Given the description of an element on the screen output the (x, y) to click on. 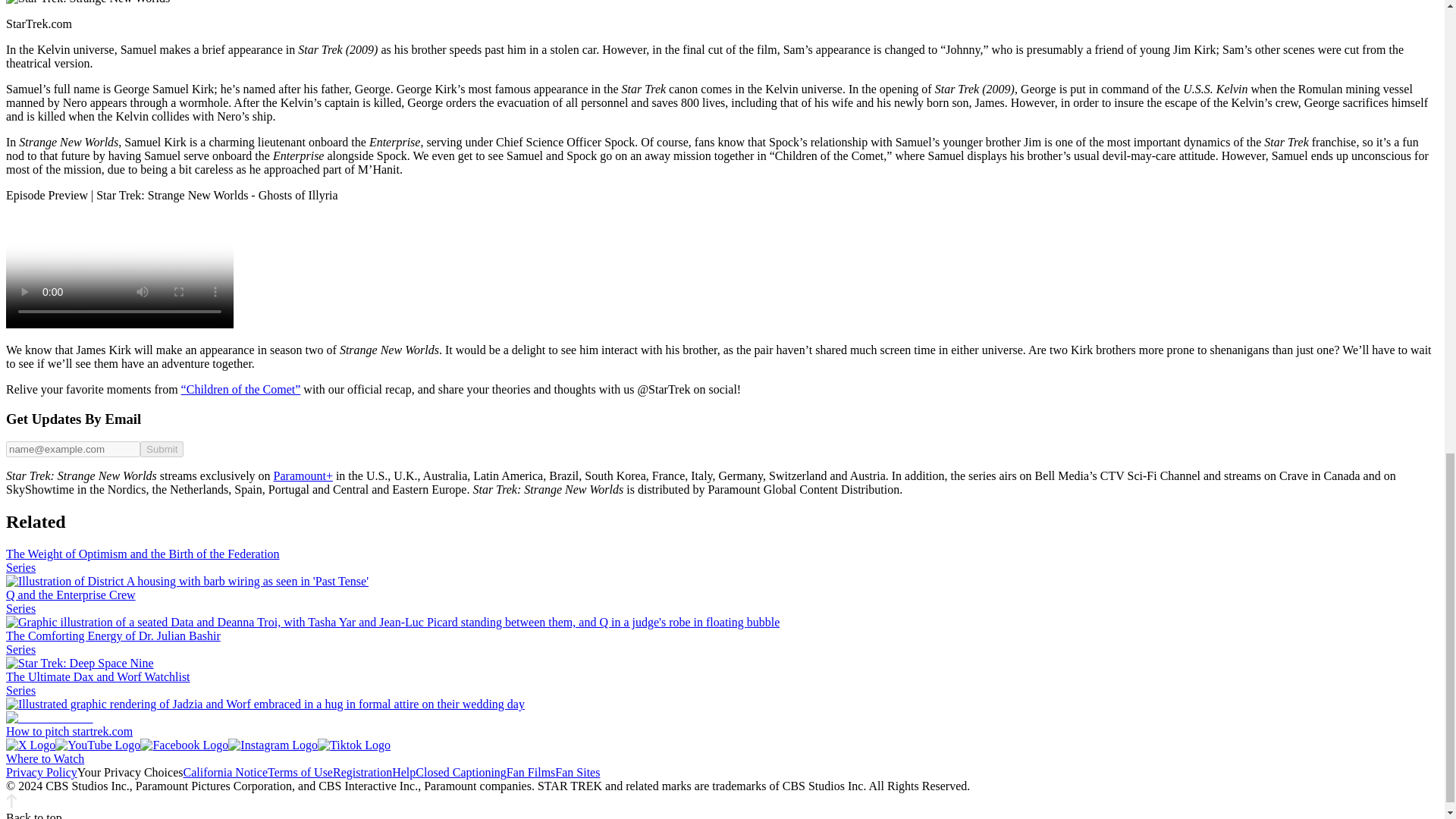
The Ultimate Dax and Worf Watchlist (97, 676)
The Weight of Optimism and the Birth of the Federation (142, 553)
Q and the Enterprise Crew (70, 594)
How to pitch startrek.com (68, 730)
Series (19, 649)
Series (19, 689)
Submit (161, 449)
Series (19, 608)
Series (19, 567)
The Comforting Energy of Dr. Julian Bashir (113, 635)
